Given the description of an element on the screen output the (x, y) to click on. 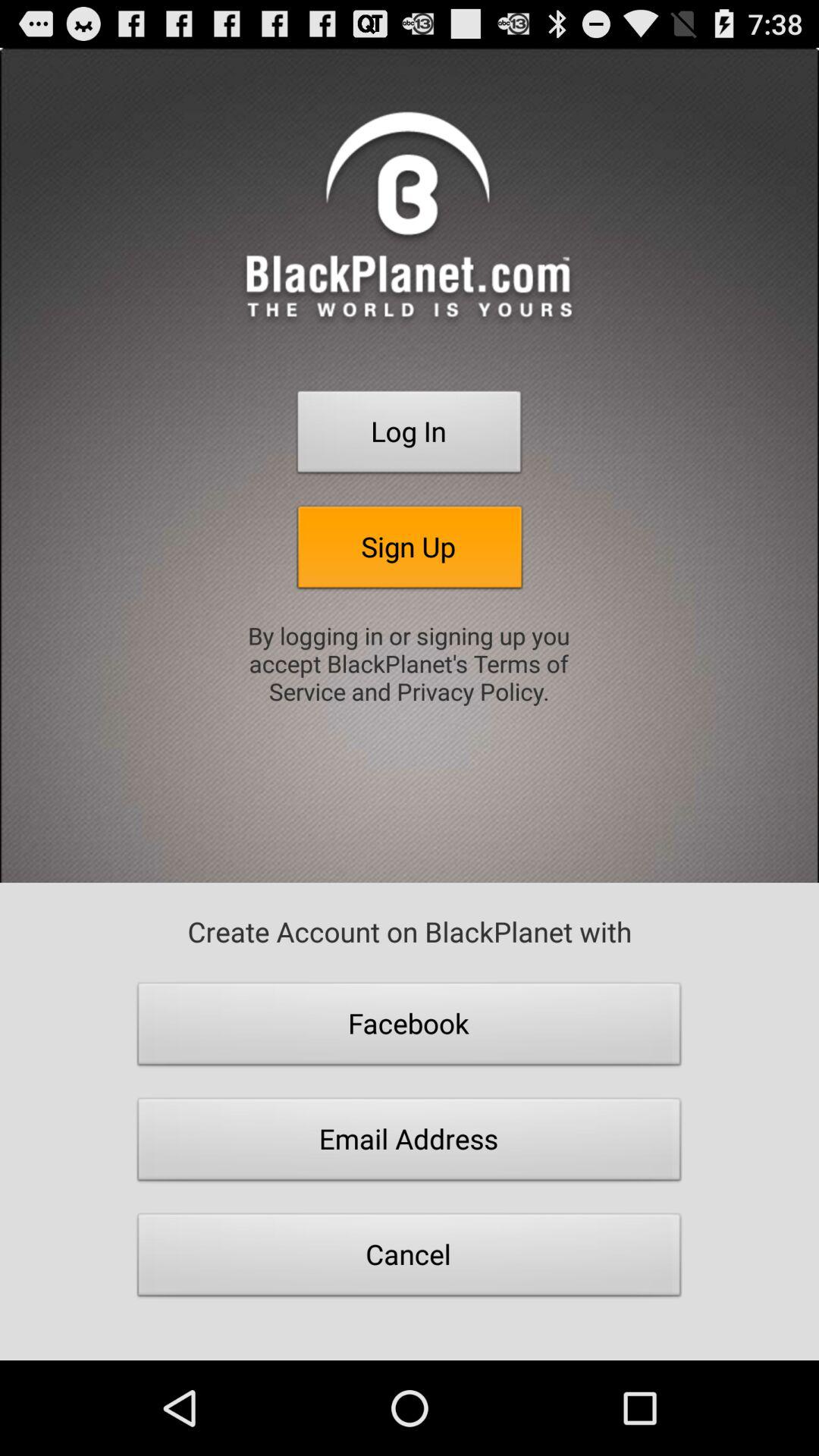
scroll until the sign up (409, 551)
